Given the description of an element on the screen output the (x, y) to click on. 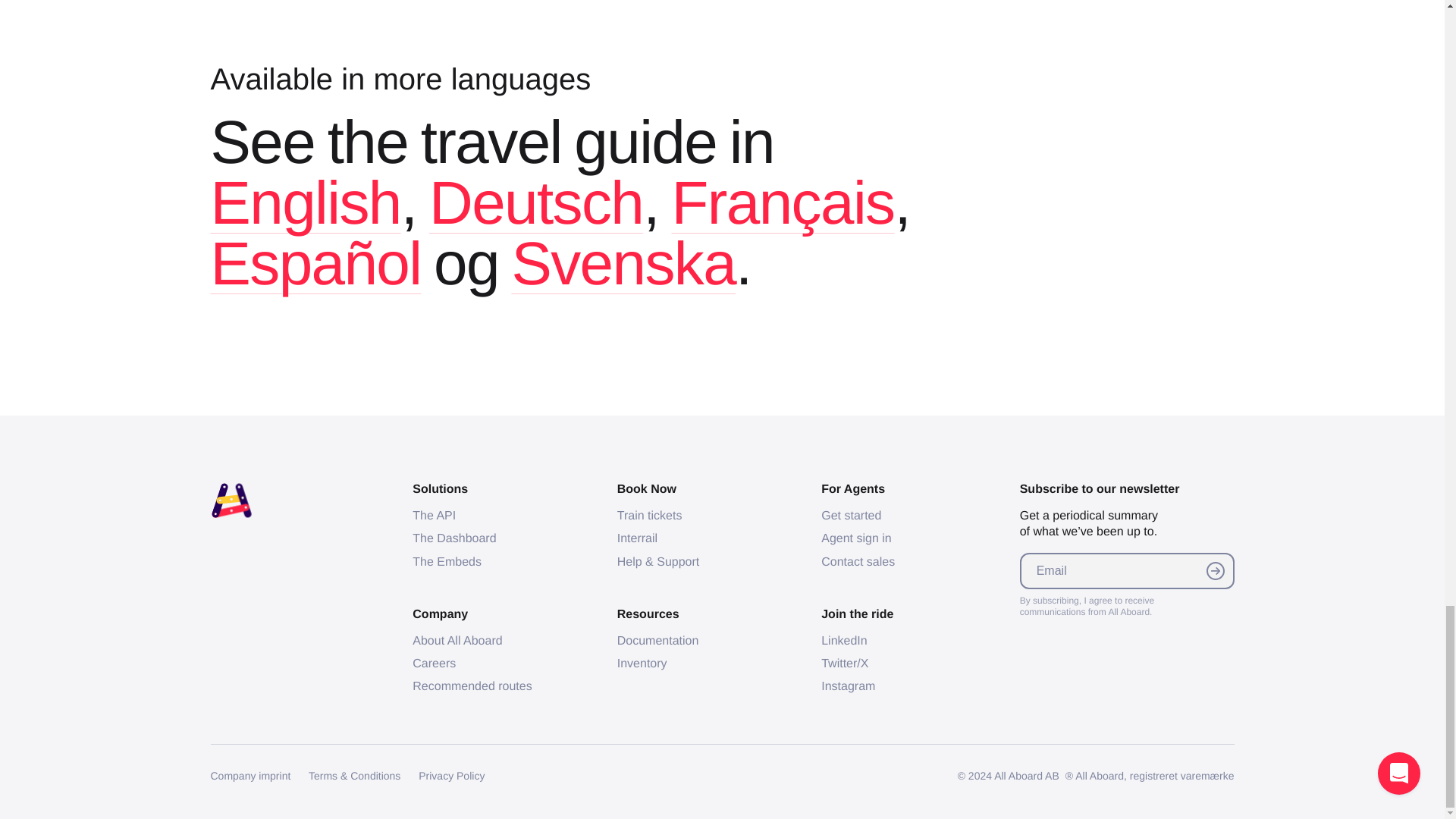
Company imprint (251, 775)
Get started (850, 515)
Documentation (657, 640)
Inventory (641, 663)
Interrail (637, 538)
LinkedIn (844, 640)
English (306, 202)
About All Aboard (457, 640)
Deutsch (536, 202)
Privacy Policy (451, 775)
Instagram (848, 686)
Svenska (623, 263)
Contact sales (858, 562)
The API (433, 515)
Careers (433, 663)
